Given the description of an element on the screen output the (x, y) to click on. 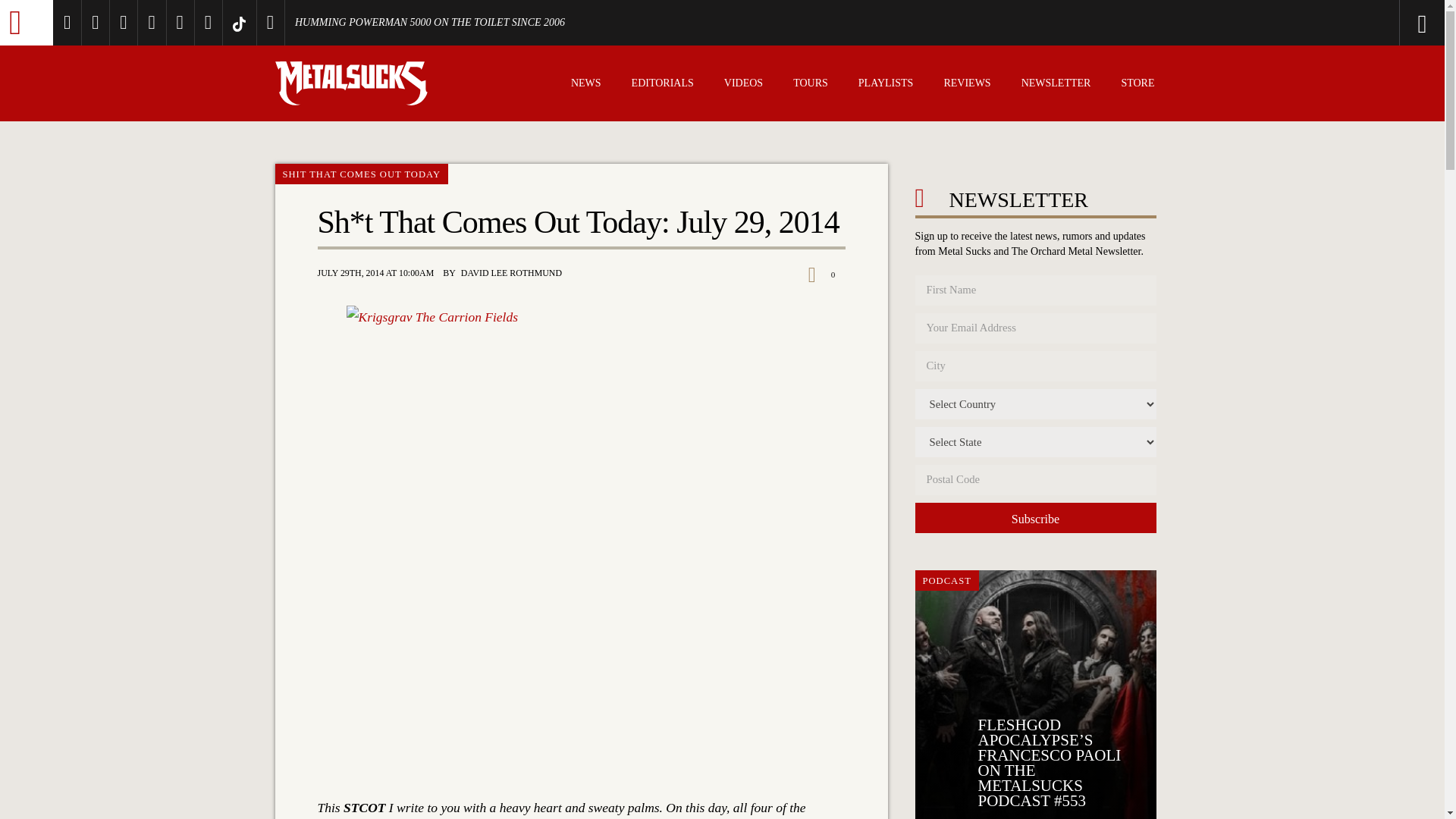
EDITORIALS (662, 84)
Metal Sucks (26, 22)
NEWS (585, 84)
SHIT THAT COMES OUT TODAY (361, 173)
PLAYLISTS (886, 84)
TOURS (810, 84)
STORE (1137, 84)
VIDEOS (742, 84)
Subscribe (1035, 517)
Search (1361, 22)
